Given the description of an element on the screen output the (x, y) to click on. 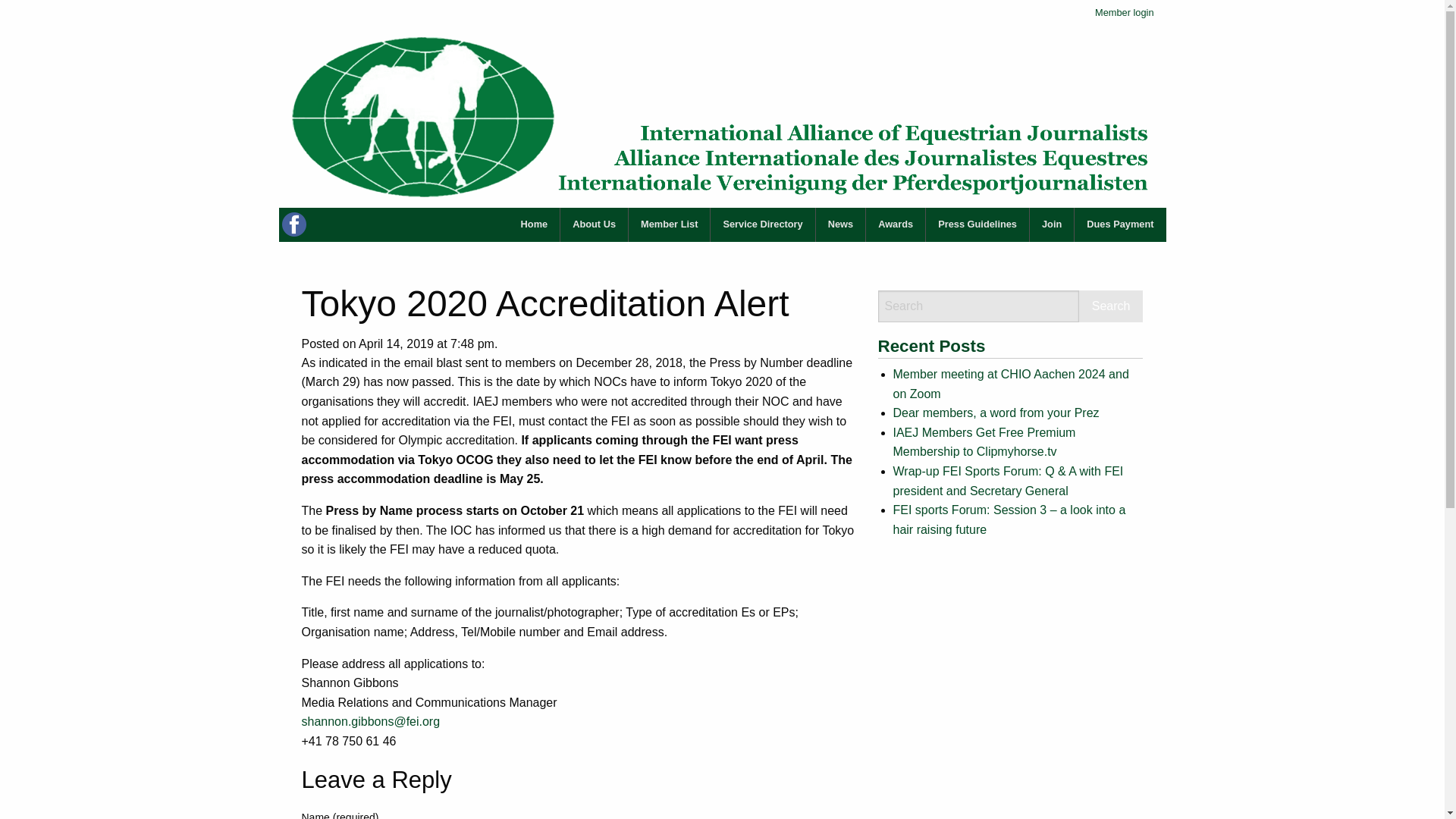
Press Guidelines (977, 224)
Service Directory (761, 224)
Member List (669, 224)
Search (1110, 306)
Search (1110, 306)
News (839, 224)
Home (534, 224)
Dear members, a word from your Prez (996, 412)
Member login (1124, 13)
Awards (895, 224)
Join (1051, 224)
IAEJ Members Get Free Premium Membership to Clipmyhorse.tv (984, 441)
Dues Payment (1120, 224)
Member meeting at CHIO Aachen 2024 and on Zoom (1011, 383)
About Us (593, 224)
